Given the description of an element on the screen output the (x, y) to click on. 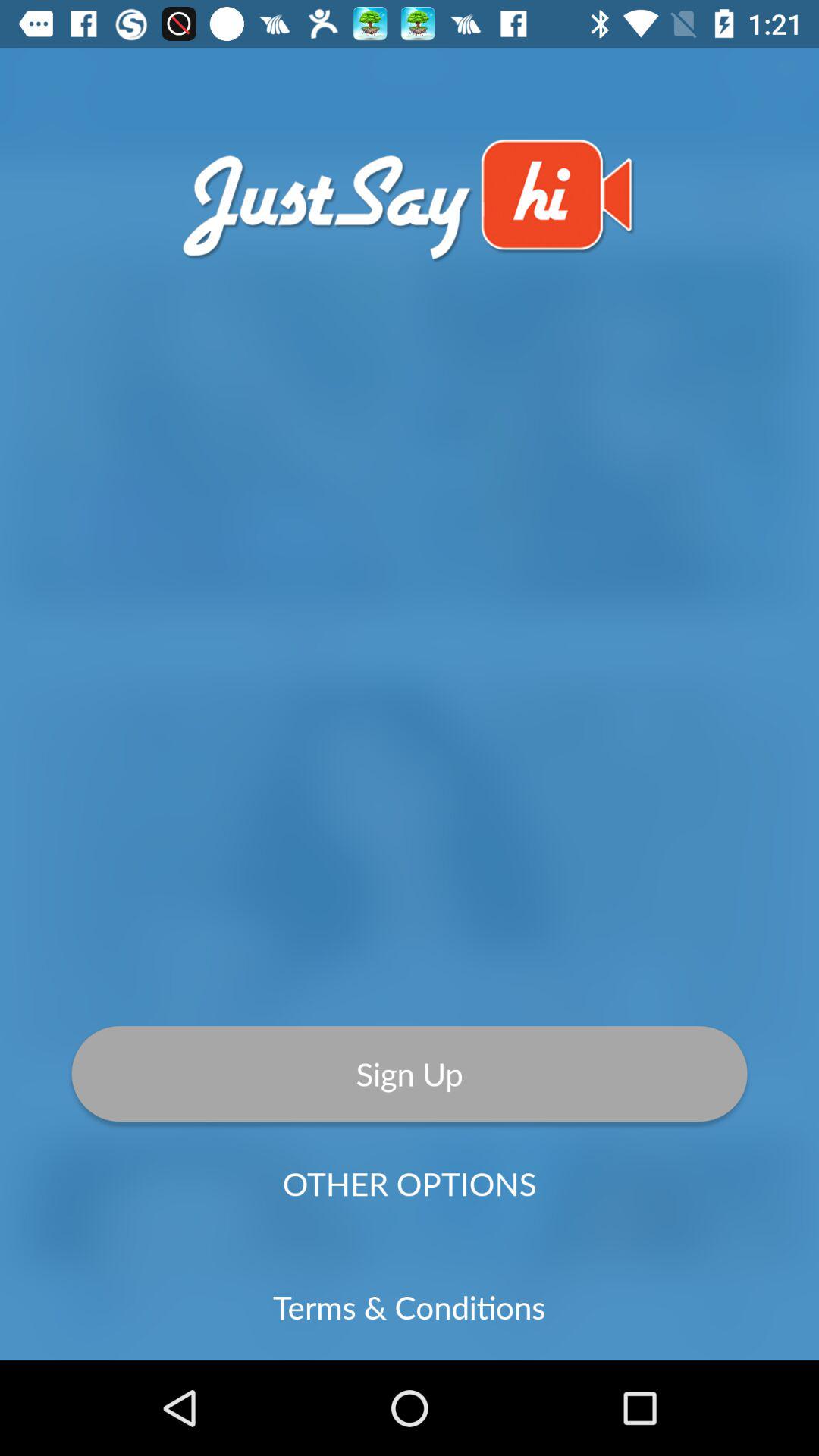
press the other options icon (409, 1183)
